Given the description of an element on the screen output the (x, y) to click on. 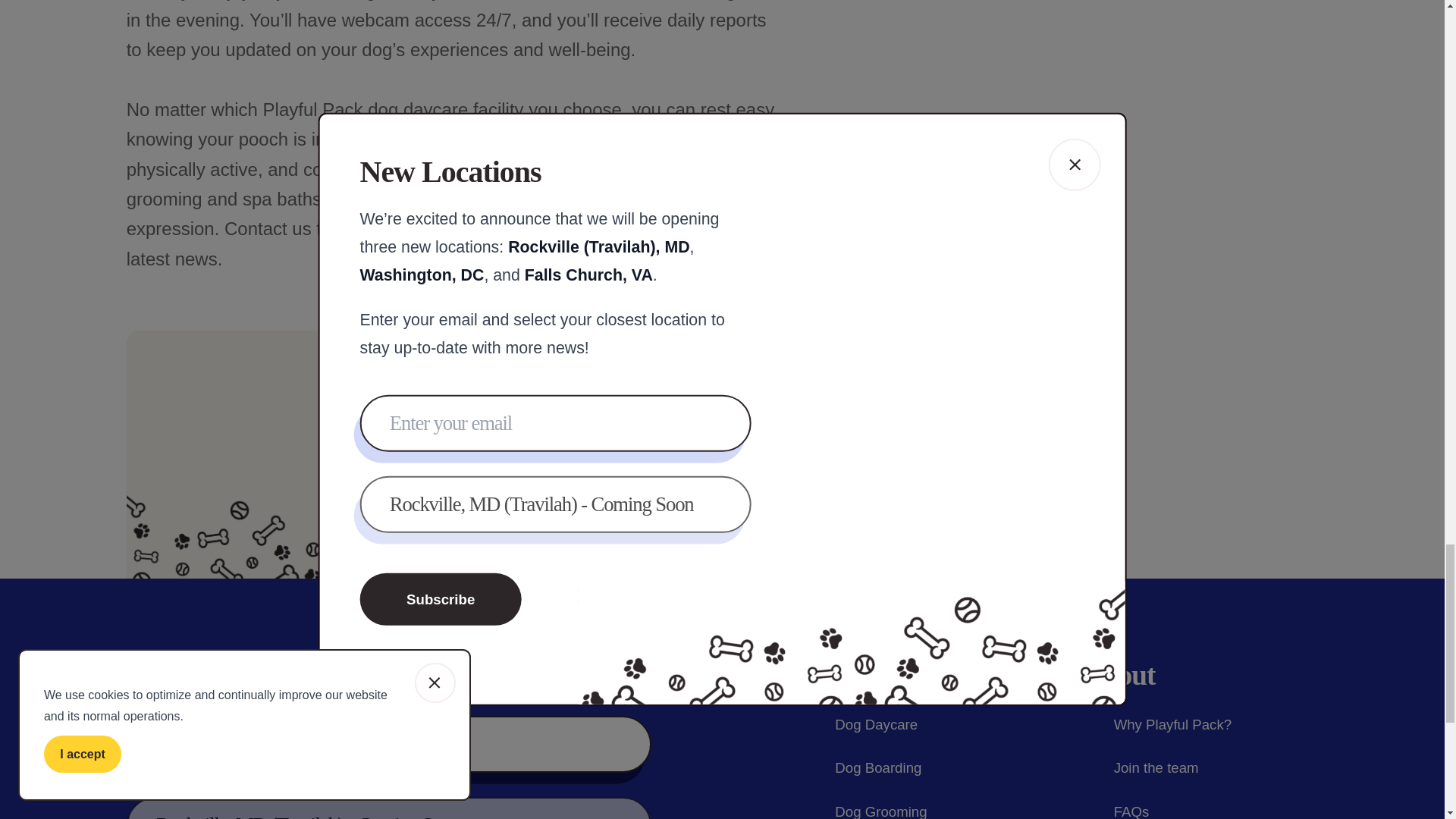
Why Playful Pack? (1157, 724)
About (1119, 675)
Join the team (1140, 767)
FAQs (1116, 810)
Services (851, 675)
Dog Grooming (865, 810)
Dog Boarding (863, 767)
Locations (518, 482)
Dog Daycare (861, 724)
